Given the description of an element on the screen output the (x, y) to click on. 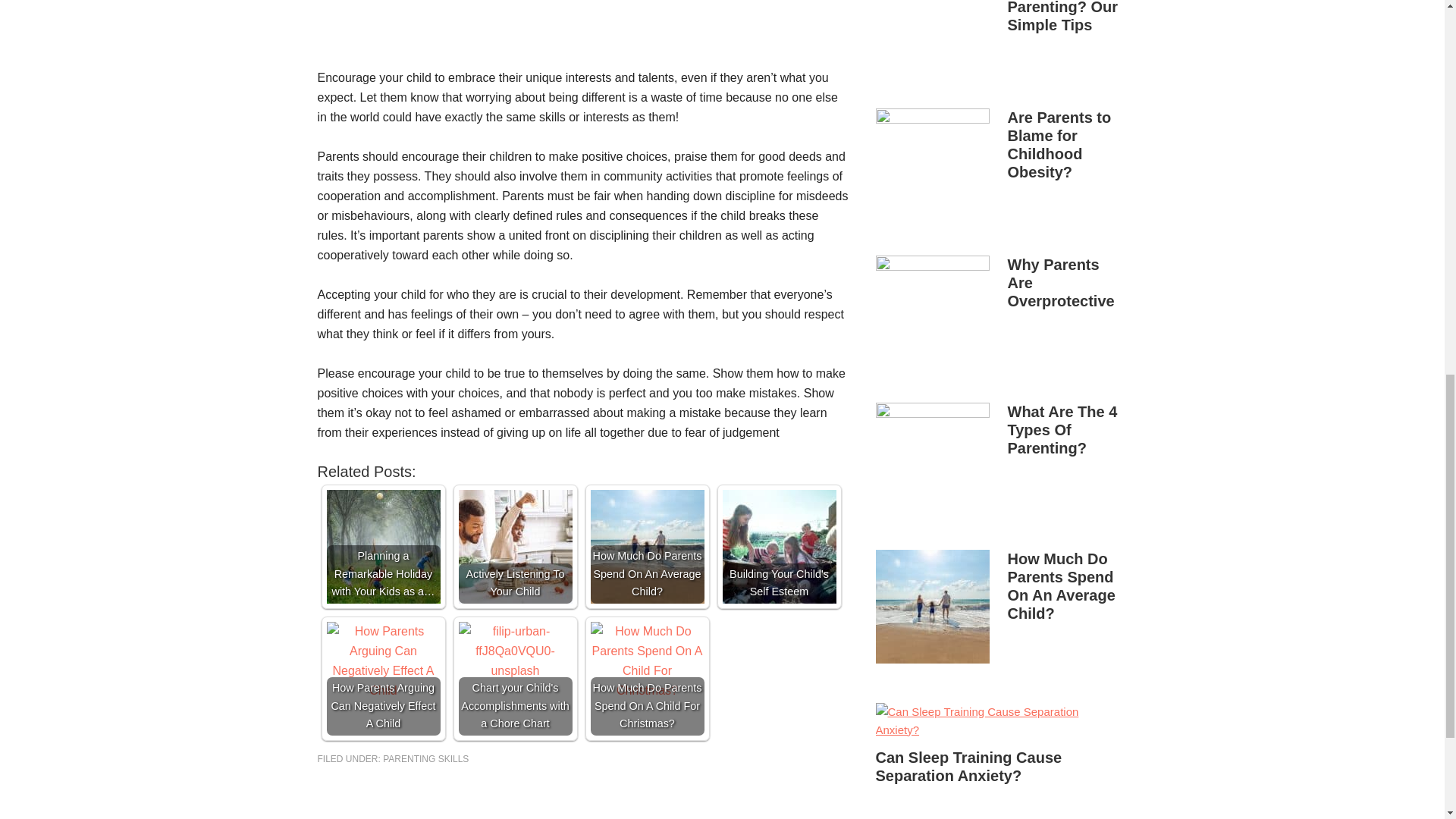
What Are The 4 Types Of Parenting? (1061, 429)
How Parents Arguing Can Negatively Effect A Child (382, 661)
Actively Listening To Your Child (515, 546)
How Do You Start Positive Parenting? Our Simple Tips (1062, 16)
Why Parents Are Overprotective (1060, 282)
How Much Do Parents Spend On An Average Child? (646, 546)
How Parents Arguing Can Negatively Effect A Child (382, 678)
Celebrate your Child's Uniqueness 1 (582, 33)
Are Parents to Blame for Childhood Obesity? (1058, 144)
Actively Listening To Your Child (515, 546)
